Given the description of an element on the screen output the (x, y) to click on. 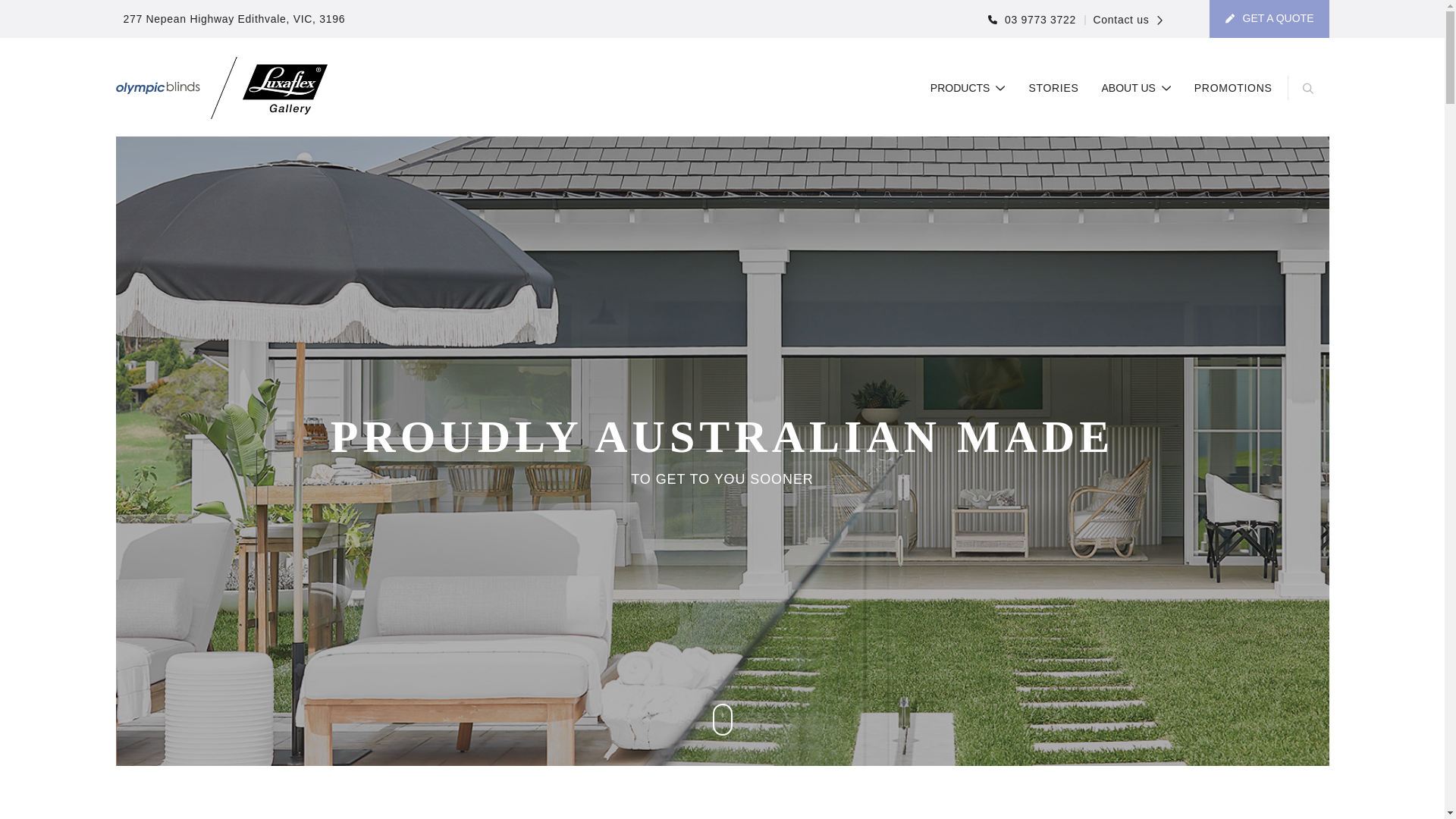
PRODUCTS (968, 88)
Contact us (1122, 20)
03 9773 3722 (1031, 20)
